Given the description of an element on the screen output the (x, y) to click on. 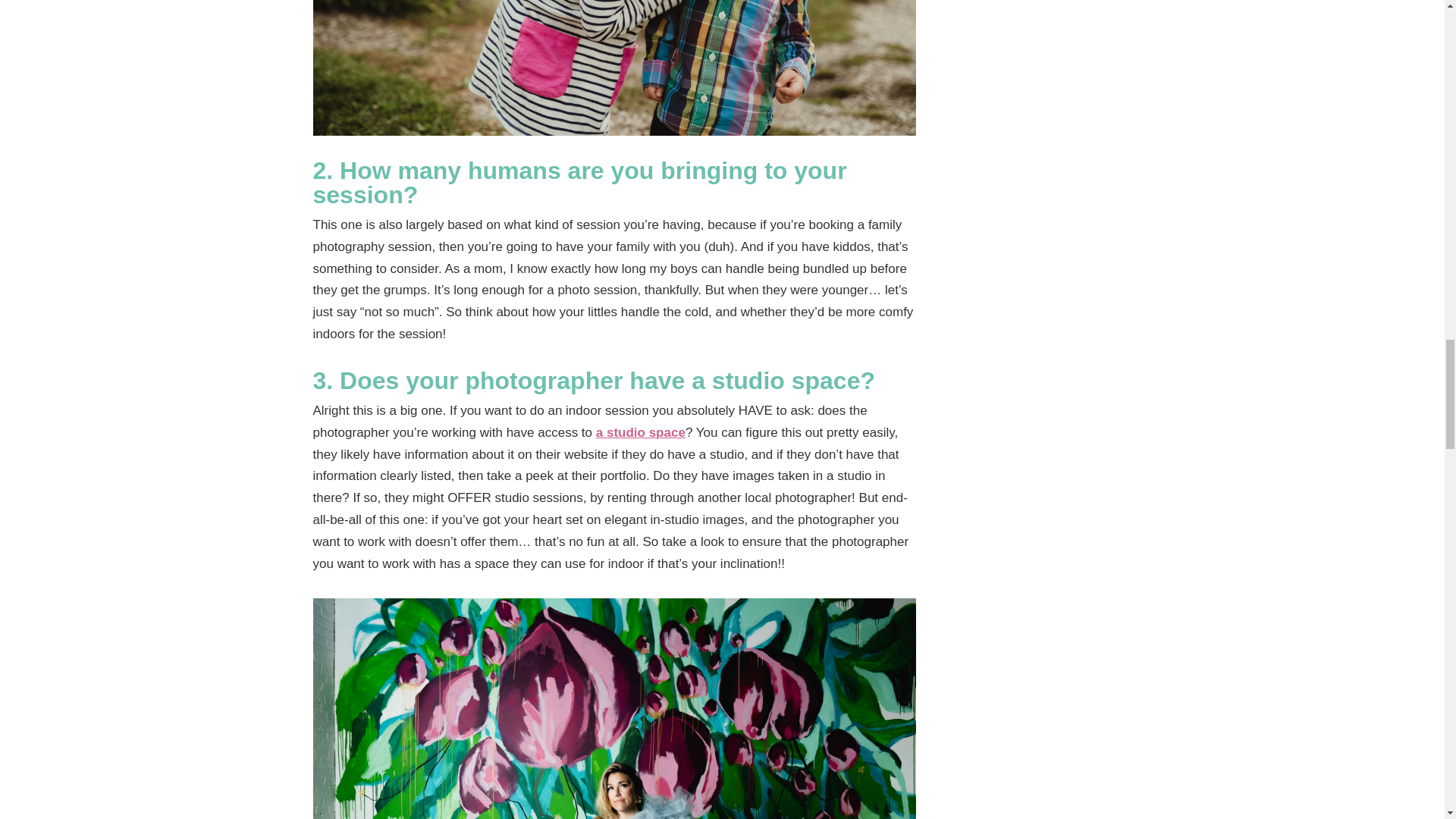
DSC05692 (614, 67)
